Given the description of an element on the screen output the (x, y) to click on. 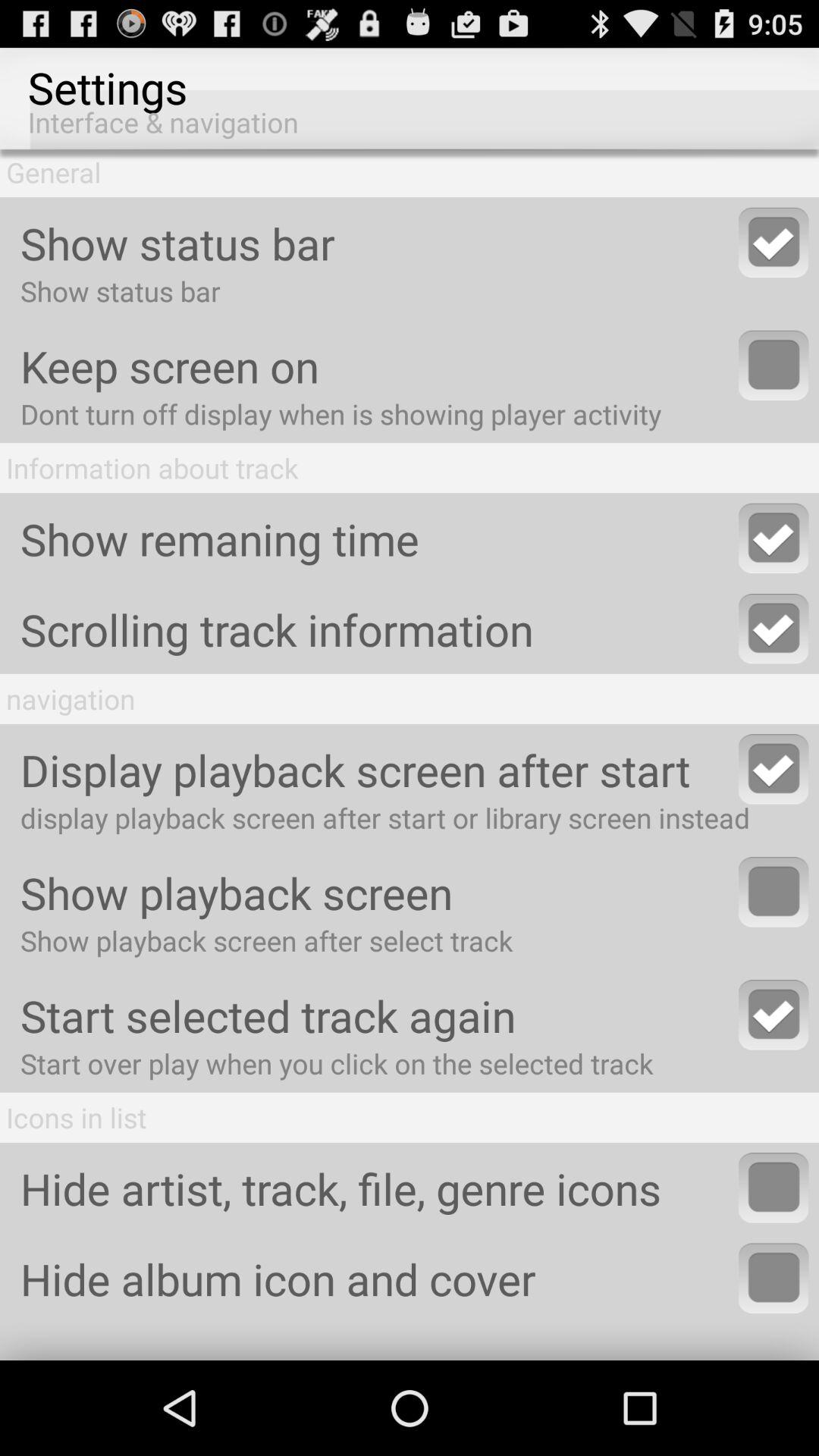
show/hide status bar (773, 242)
